Given the description of an element on the screen output the (x, y) to click on. 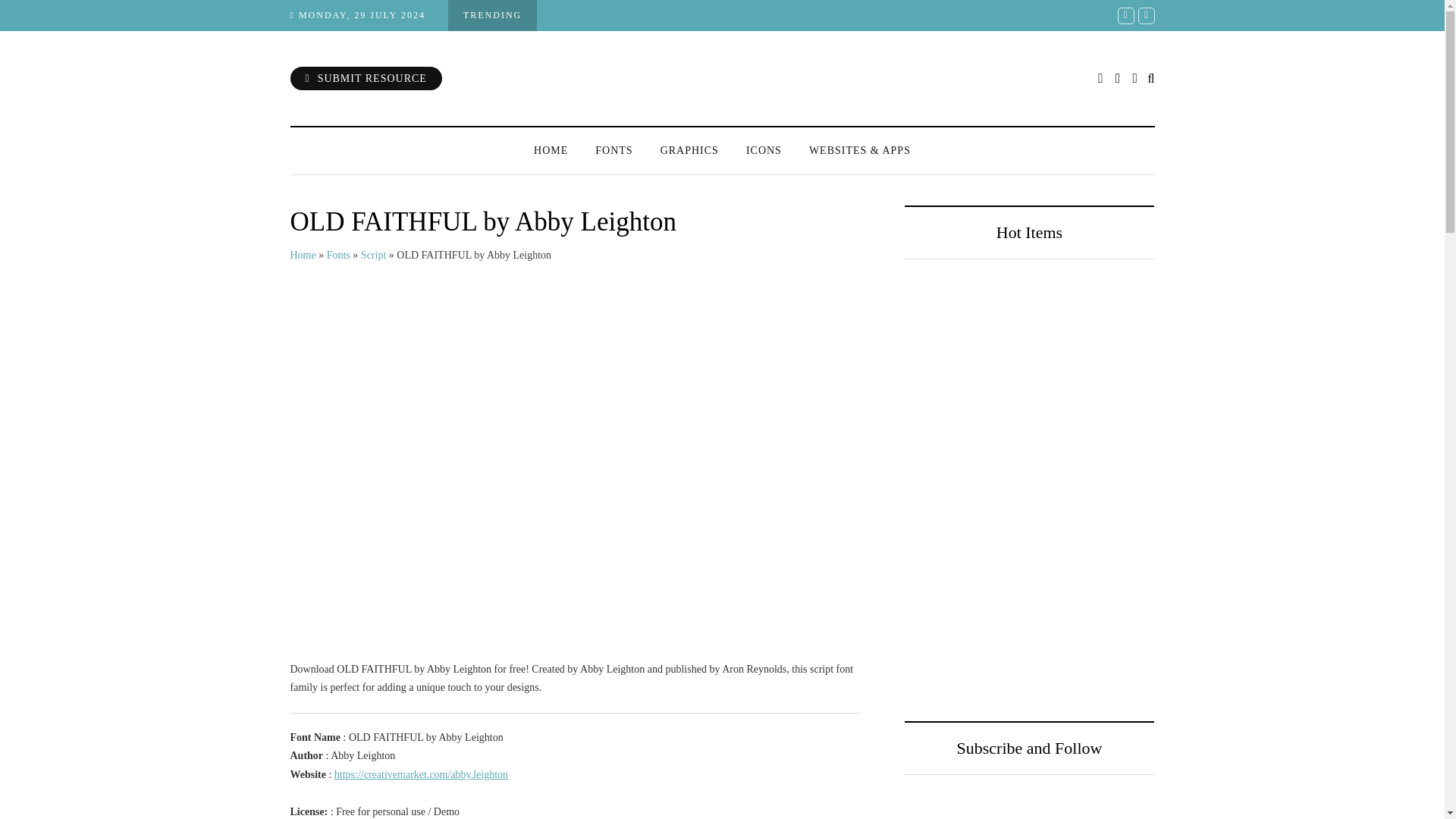
SUBMIT RESOURCE (365, 78)
HOME (549, 150)
Script (373, 255)
GRAPHICS (689, 150)
Fonts (338, 255)
FONTS (613, 150)
ICONS (763, 150)
Home (302, 255)
